Given the description of an element on the screen output the (x, y) to click on. 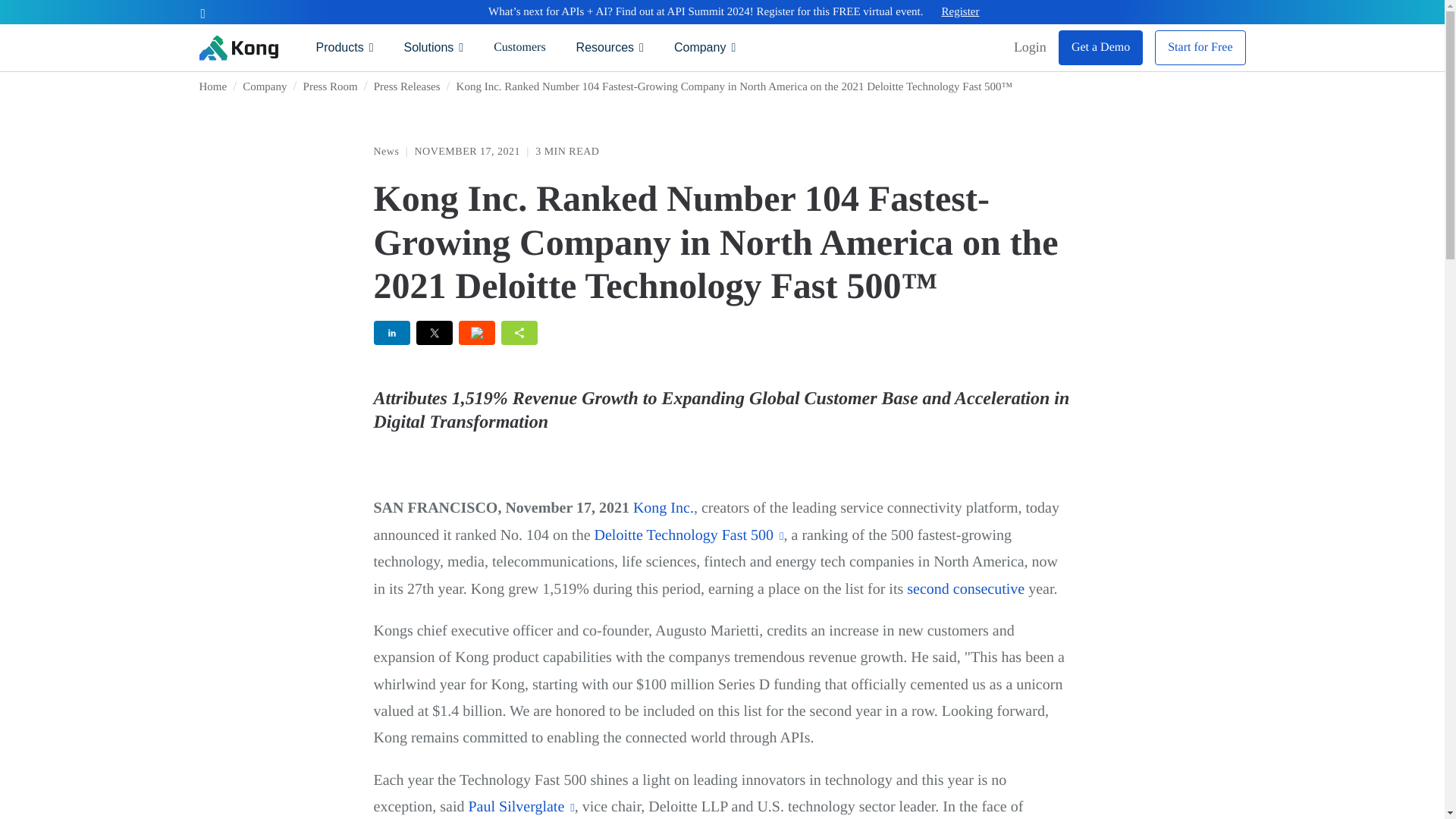
Register (960, 12)
Solutions (433, 47)
Products (343, 47)
